Given the description of an element on the screen output the (x, y) to click on. 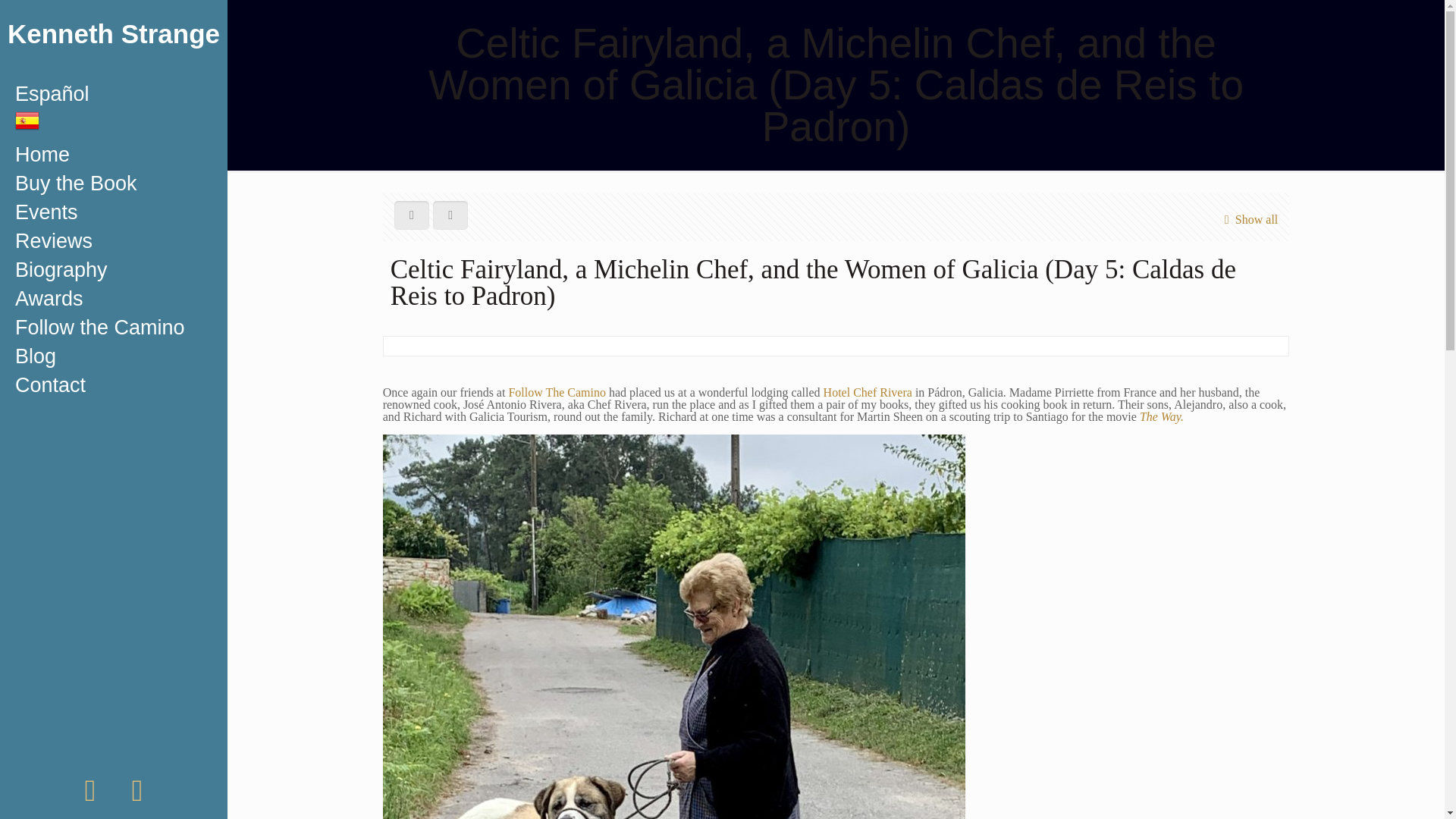
Kenneth Strange (113, 39)
Reviews (113, 240)
Events (113, 212)
Contact (113, 385)
Awards (113, 298)
Facebook (90, 797)
Show all (1247, 219)
Home (113, 154)
Follow The Camino (556, 391)
Biography (113, 269)
Follow the Camino (113, 327)
LinkedIn (137, 797)
Blog (113, 356)
Kenneth Strange (113, 39)
Buy the Book (113, 183)
